Given the description of an element on the screen output the (x, y) to click on. 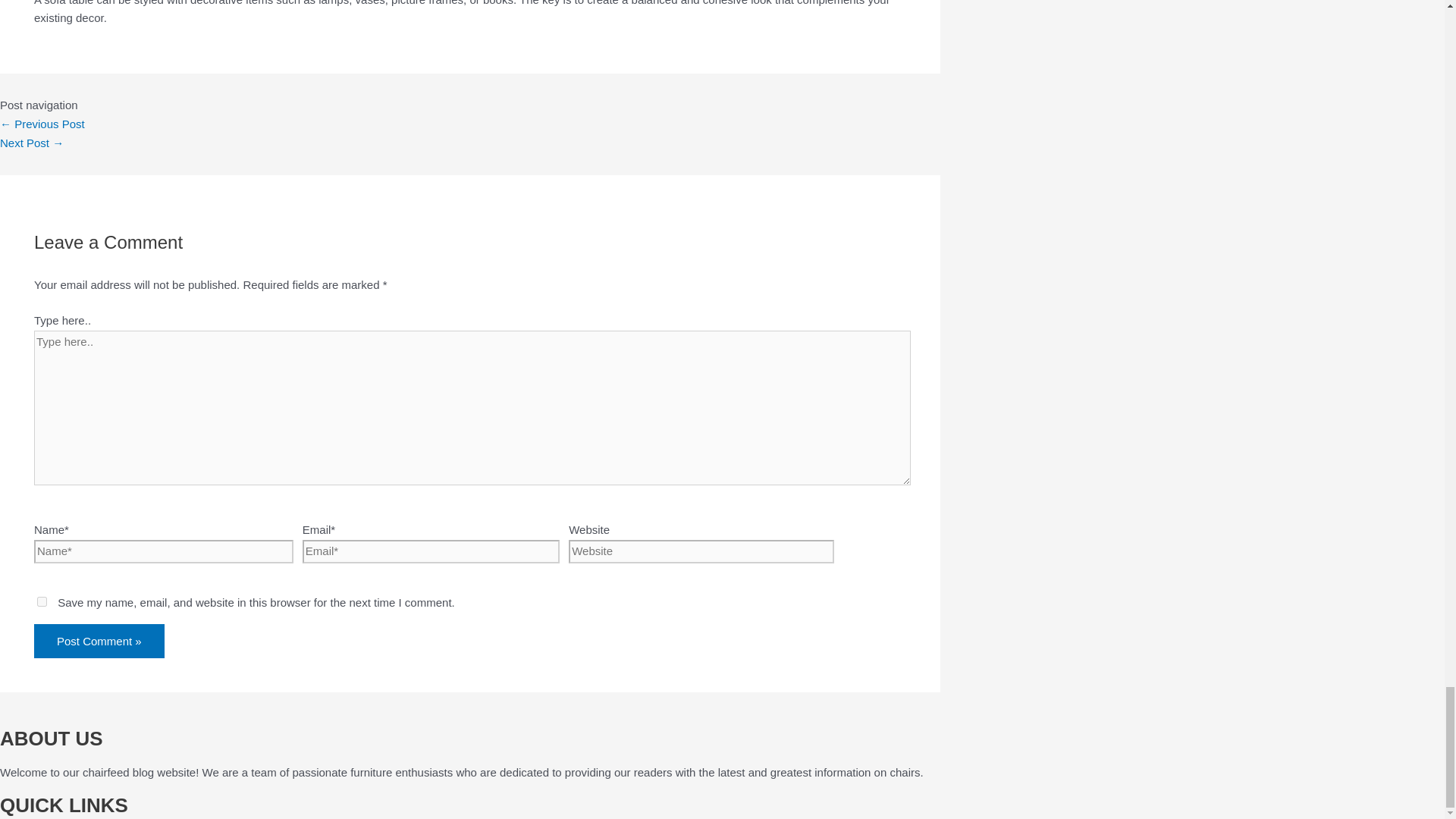
yes (41, 601)
HOW TO MEASURE SECTIONAL SOFA? (42, 123)
